Given the description of an element on the screen output the (x, y) to click on. 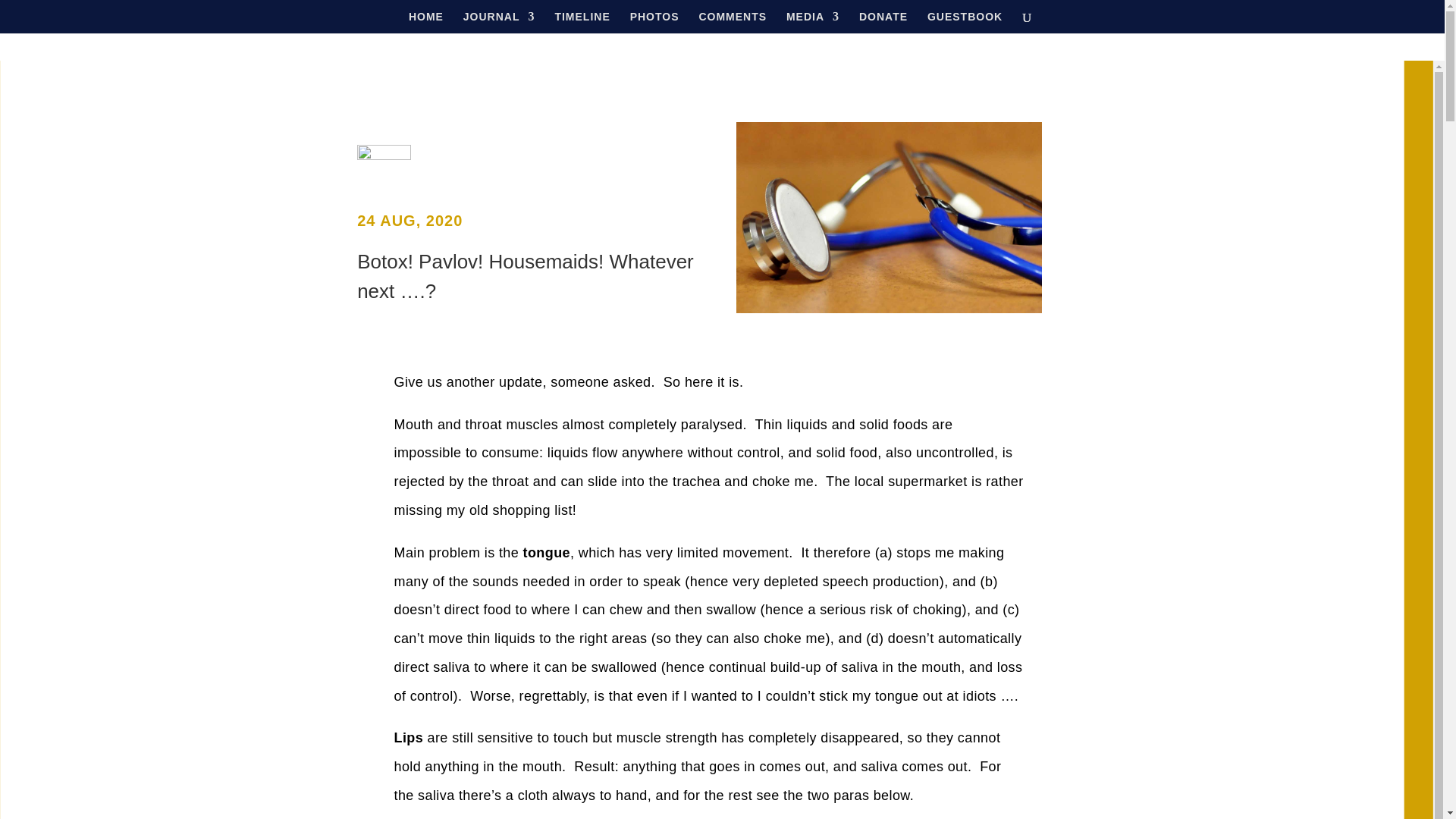
stethoscope (889, 217)
COMMENTS (732, 22)
GUESTBOOK (965, 22)
TIMELINE (582, 22)
DONATE (883, 22)
PHOTOS (654, 22)
MEDIA (813, 22)
HOME (426, 22)
JOURNAL (499, 22)
